Given the description of an element on the screen output the (x, y) to click on. 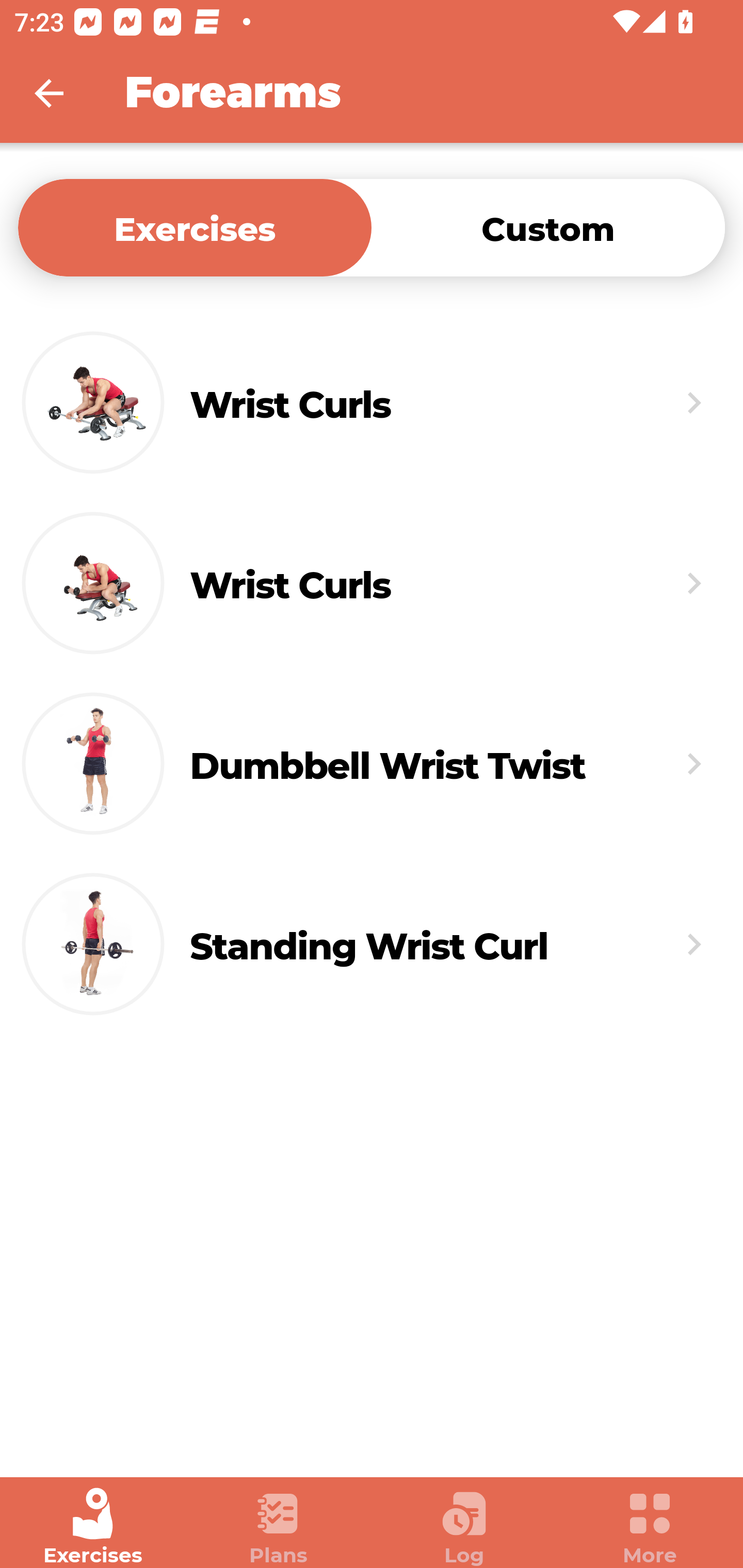
Back (62, 92)
Exercises (194, 226)
Custom (548, 226)
Exercises (92, 1527)
Plans (278, 1527)
Log (464, 1527)
More (650, 1527)
